Given the description of an element on the screen output the (x, y) to click on. 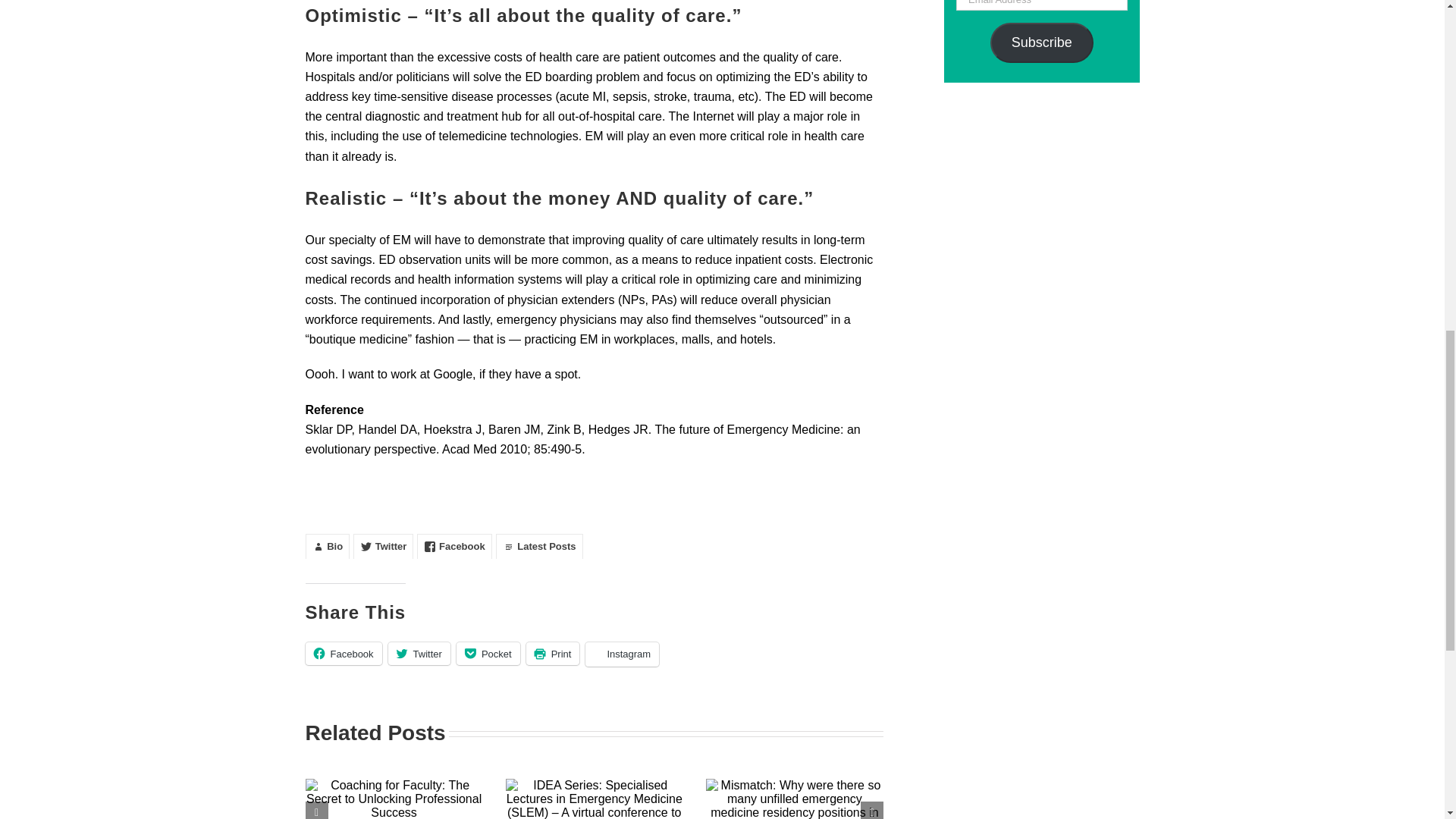
Click to share on Pocket (488, 653)
Click to share on Facebook (342, 653)
Click to share on Twitter (418, 653)
